Given the description of an element on the screen output the (x, y) to click on. 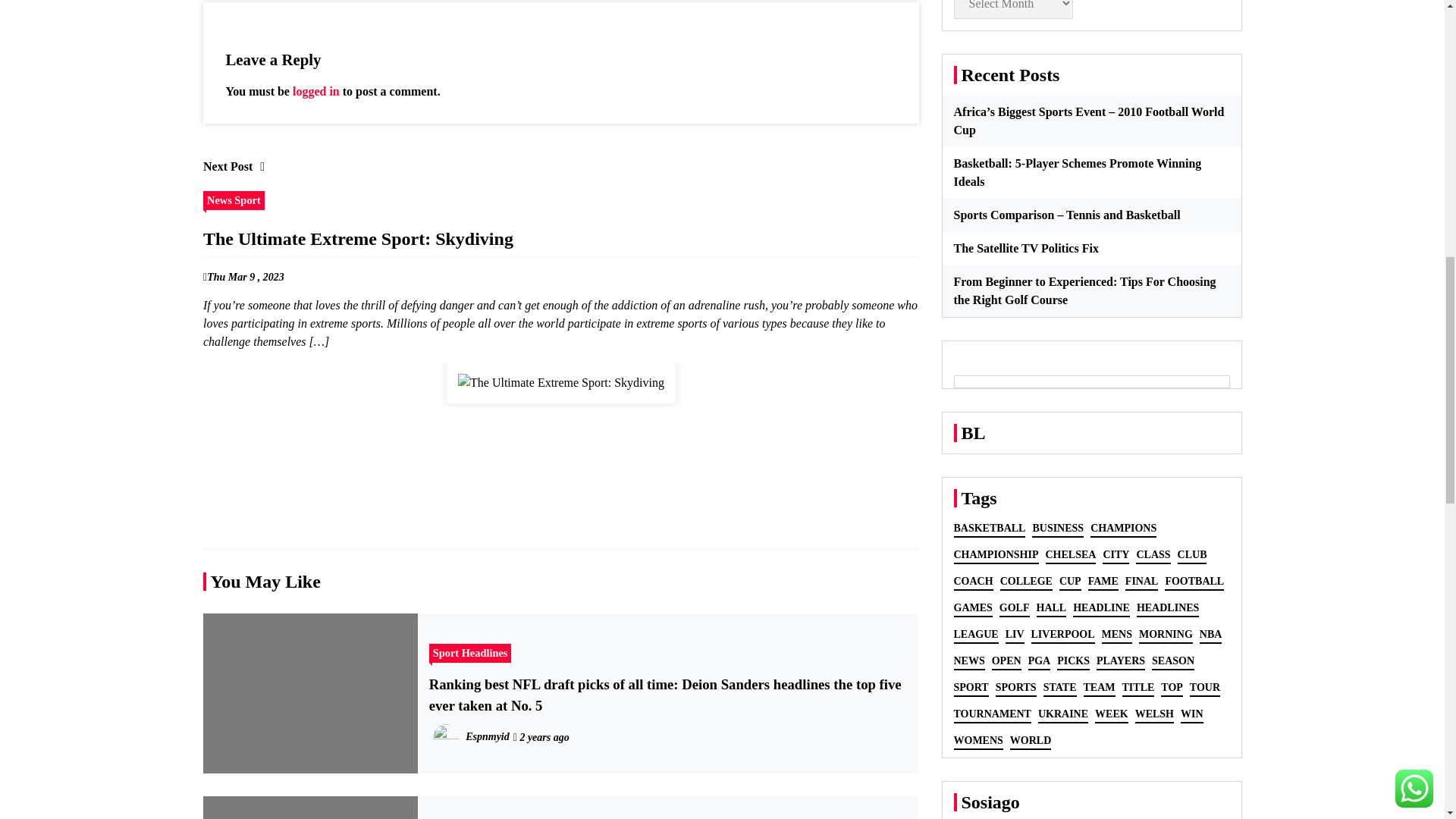
The Ultimate Extreme Sport: Skydiving (560, 382)
